Given the description of an element on the screen output the (x, y) to click on. 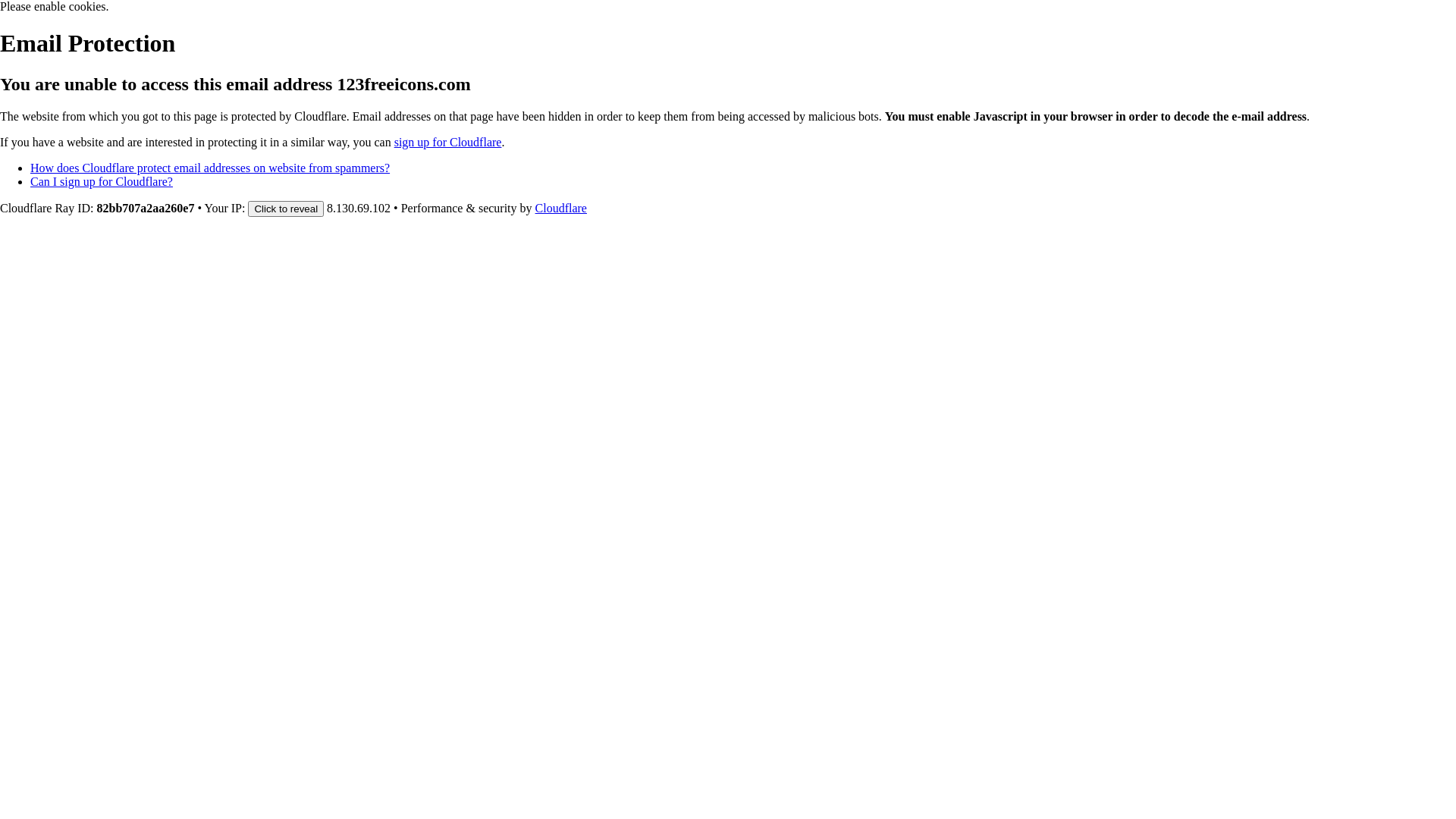
Cloudflare Element type: text (560, 207)
Can I sign up for Cloudflare? Element type: text (101, 181)
sign up for Cloudflare Element type: text (448, 141)
Click to reveal Element type: text (285, 208)
